Given the description of an element on the screen output the (x, y) to click on. 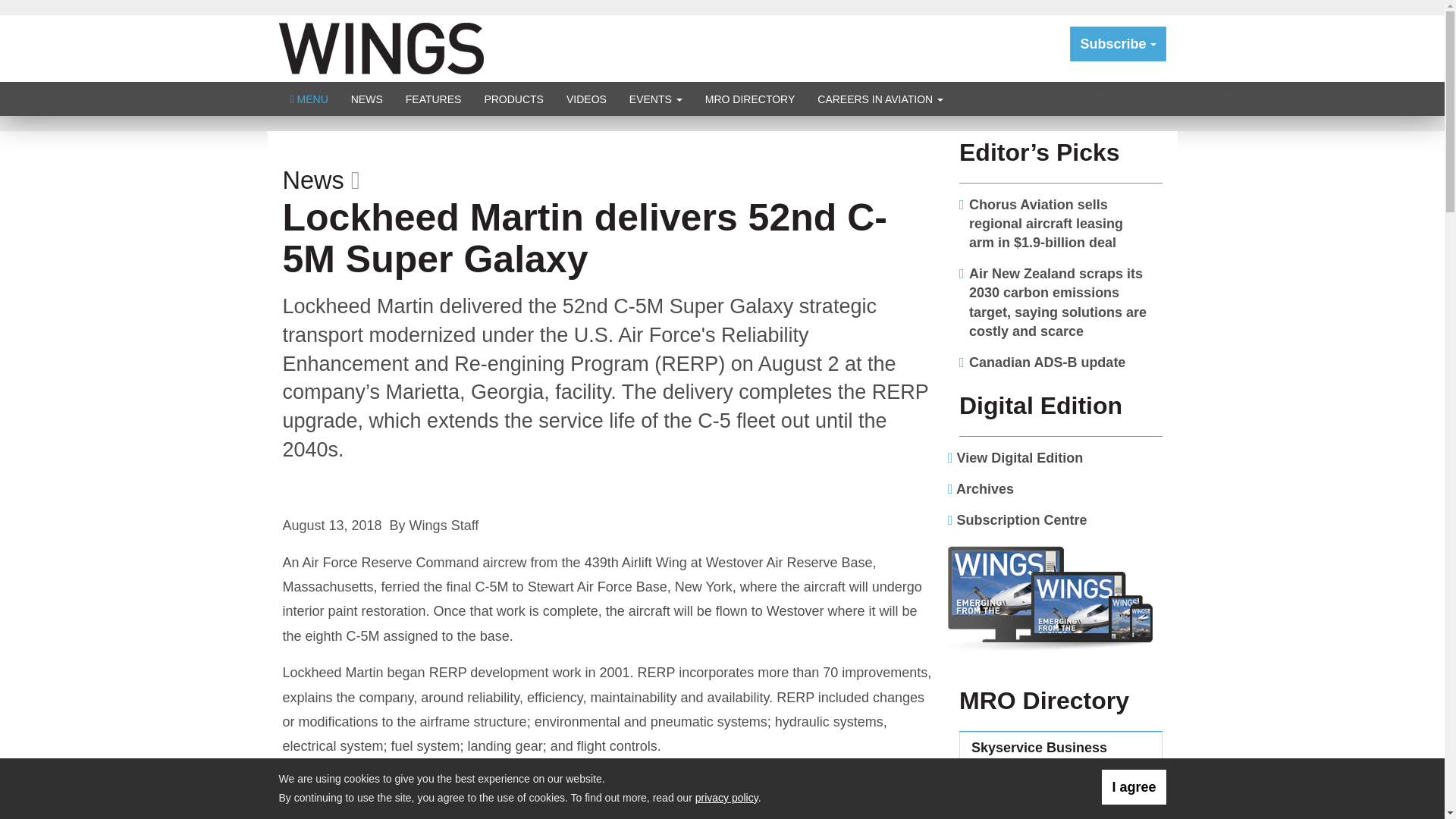
CAREERS IN AVIATION (880, 98)
PRODUCTS (512, 98)
EVENTS (655, 98)
Subscribe (1118, 43)
NEWS (366, 98)
FEATURES (433, 98)
MENU (309, 98)
Wings Magazine (381, 47)
VIDEOS (585, 98)
MRO DIRECTORY (750, 98)
